Given the description of an element on the screen output the (x, y) to click on. 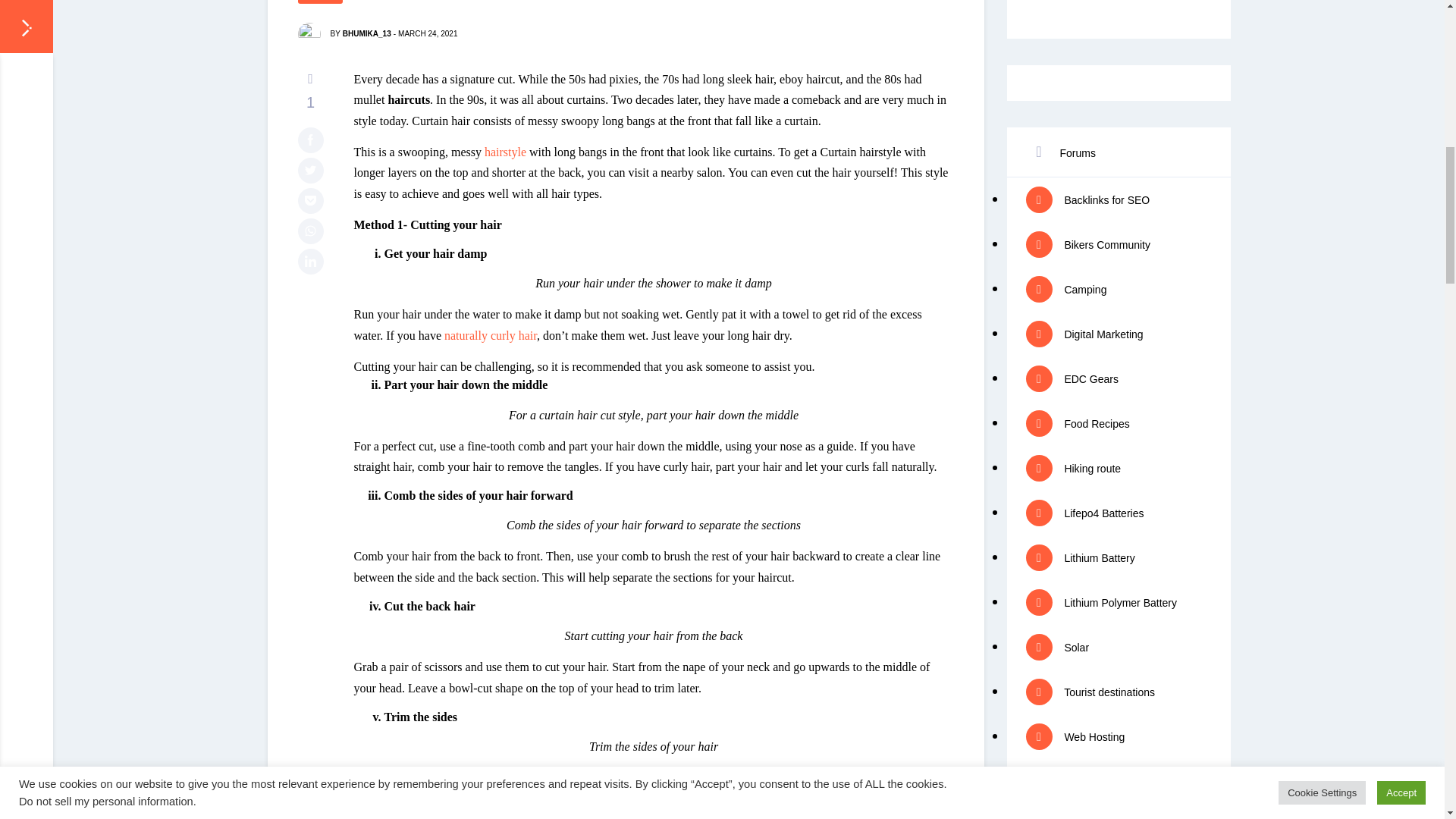
Advertisement (1117, 10)
All posts from Fashion (319, 2)
